Given the description of an element on the screen output the (x, y) to click on. 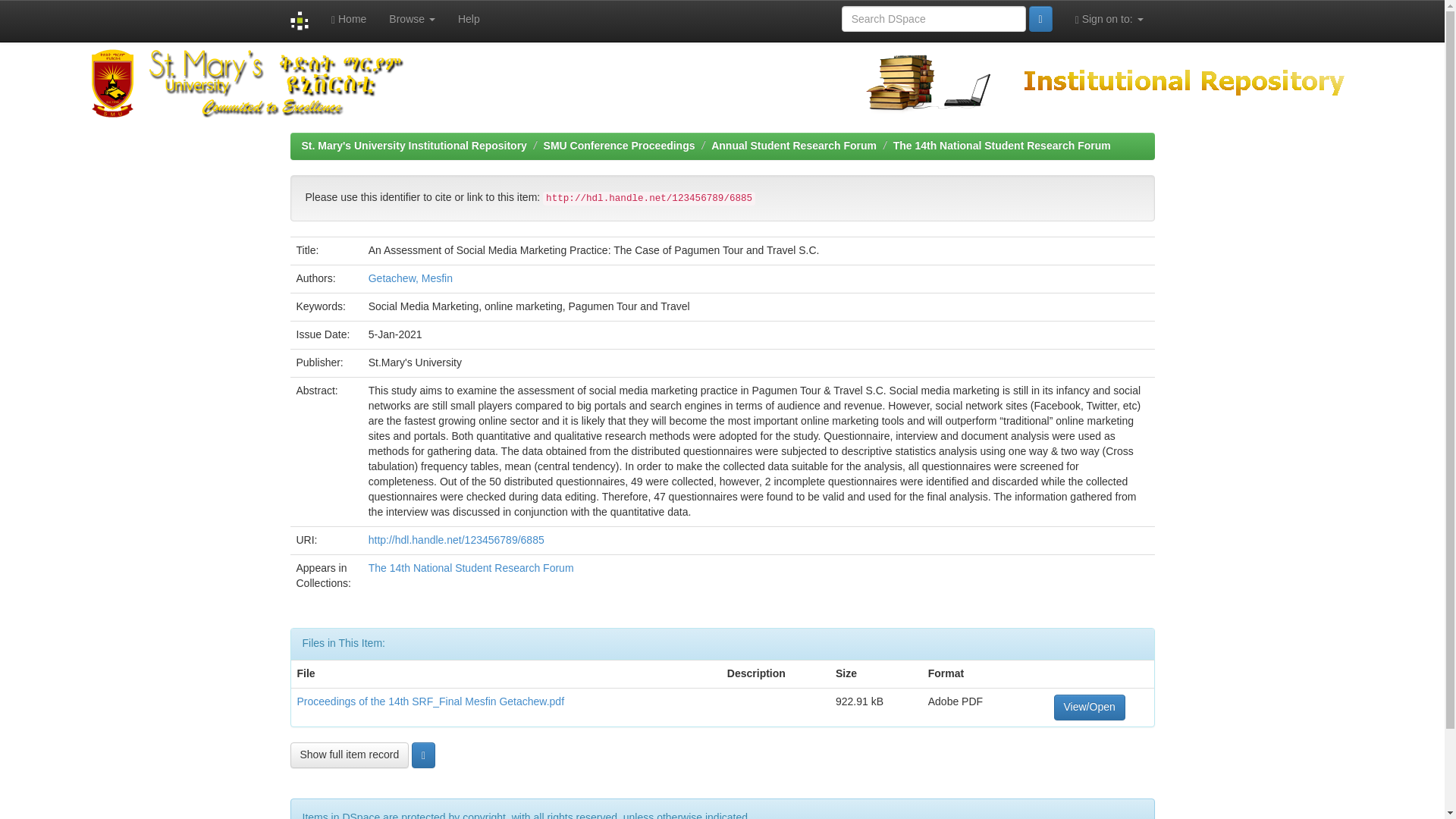
Getachew, Mesfin (410, 277)
Show full item record (349, 755)
Home (348, 18)
St. Mary's University Institutional Repository (414, 145)
Browse (411, 18)
The 14th National Student Research Forum (1001, 145)
The 14th National Student Research Forum (470, 567)
Annual Student Research Forum (793, 145)
SMU Conference Proceedings (619, 145)
Sign on to: (1109, 18)
